Given the description of an element on the screen output the (x, y) to click on. 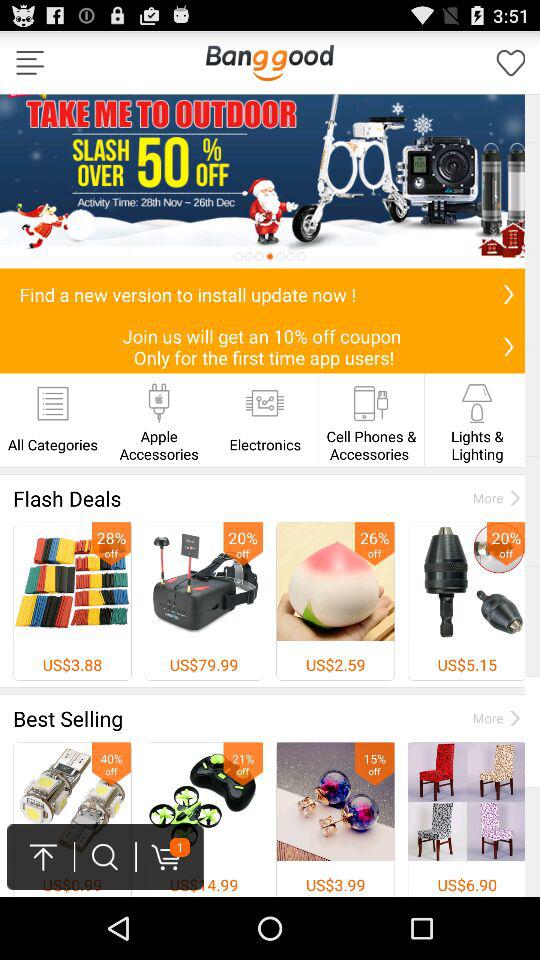
website name (269, 62)
